Given the description of an element on the screen output the (x, y) to click on. 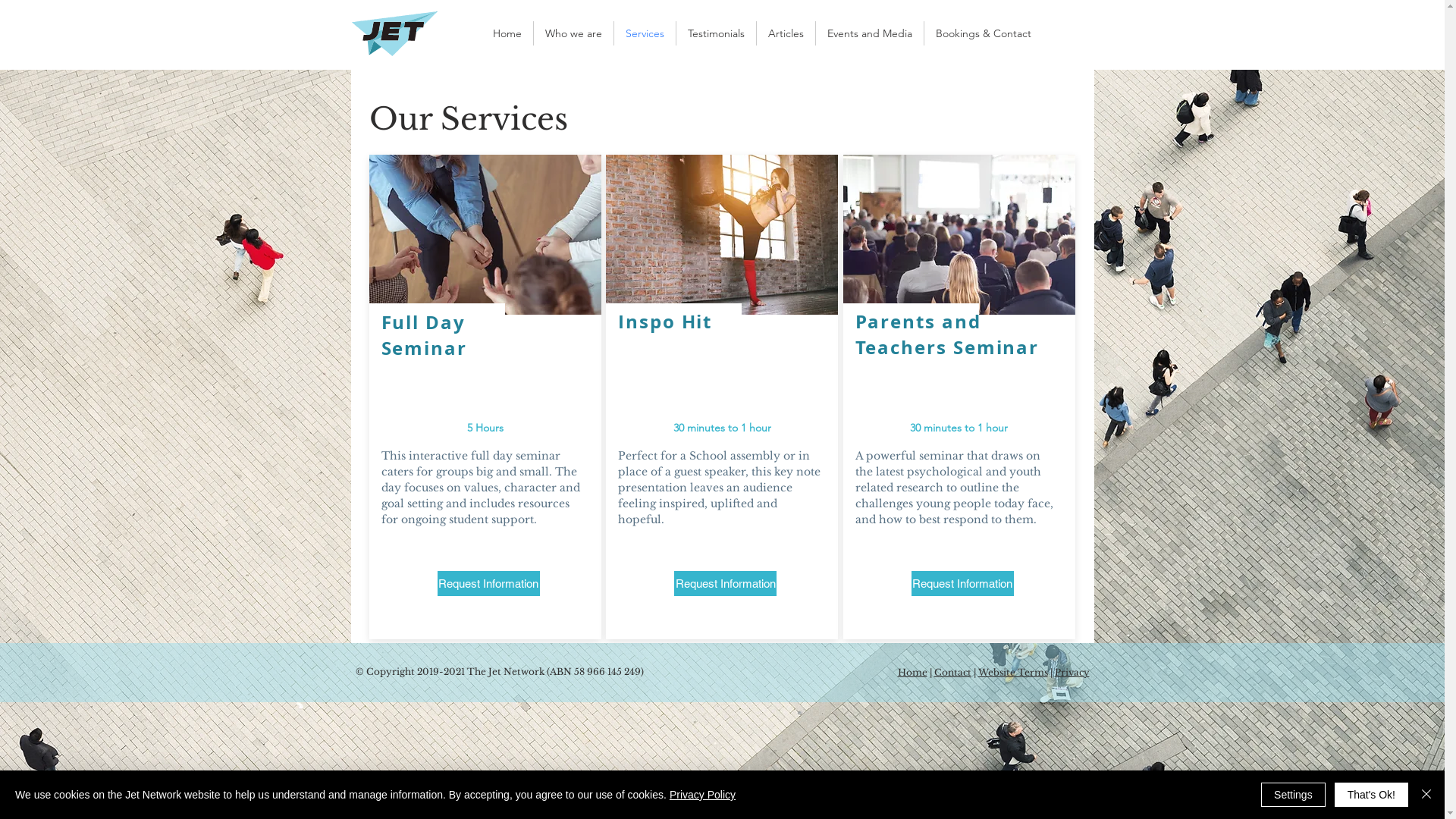
Request Information Element type: text (487, 583)
Settings Element type: text (1293, 794)
Request Information Element type: text (962, 583)
That's Ok! Element type: text (1371, 794)
Website Terms Element type: text (1013, 671)
Bookings & Contact Element type: text (982, 33)
Articles Element type: text (785, 33)
Privacy Policy Element type: text (702, 794)
Services Element type: text (644, 33)
Privacy Element type: text (1071, 671)
Home Element type: text (912, 671)
Contact Element type: text (952, 671)
Events and Media Element type: text (869, 33)
Home Element type: text (506, 33)
Who we are Element type: text (573, 33)
Request Information Element type: text (725, 583)
Testimonials Element type: text (716, 33)
